Given the description of an element on the screen output the (x, y) to click on. 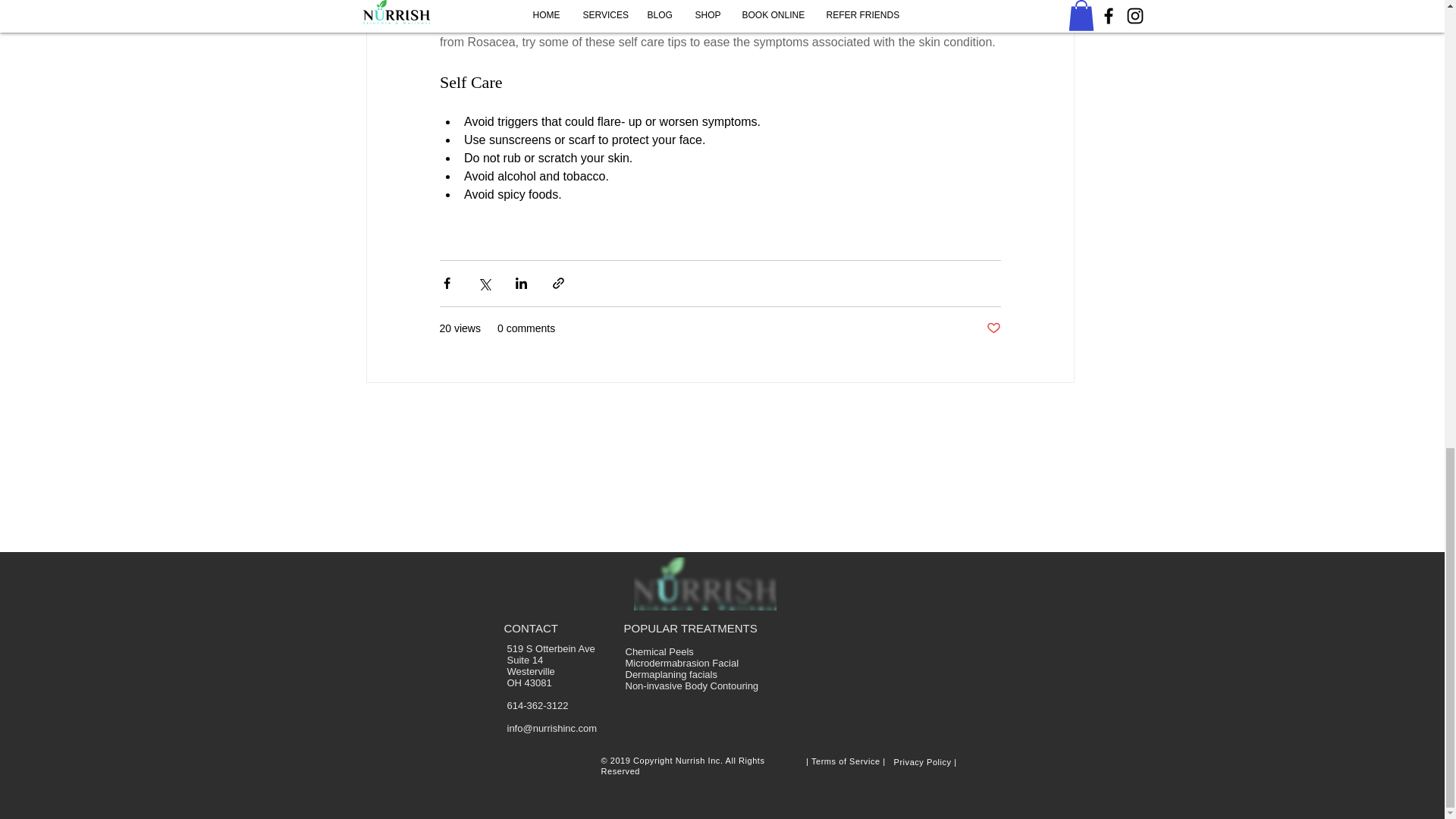
Post not marked as liked (992, 328)
